Given the description of an element on the screen output the (x, y) to click on. 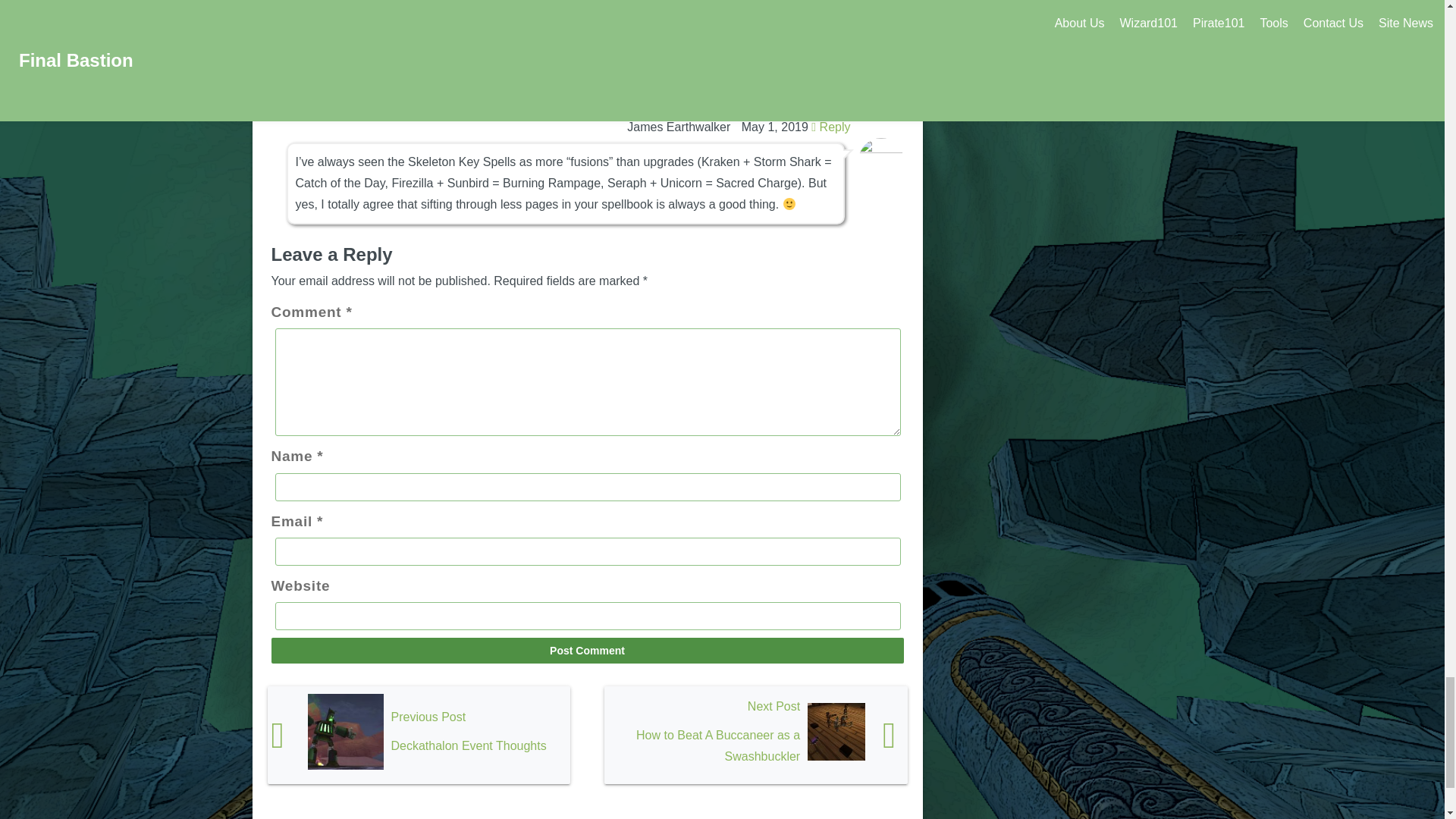
Post Comment (587, 650)
Deckathalon Event Thoughts (418, 734)
How to Beat A Buccaneer as a Swashbuckler (755, 734)
